Given the description of an element on the screen output the (x, y) to click on. 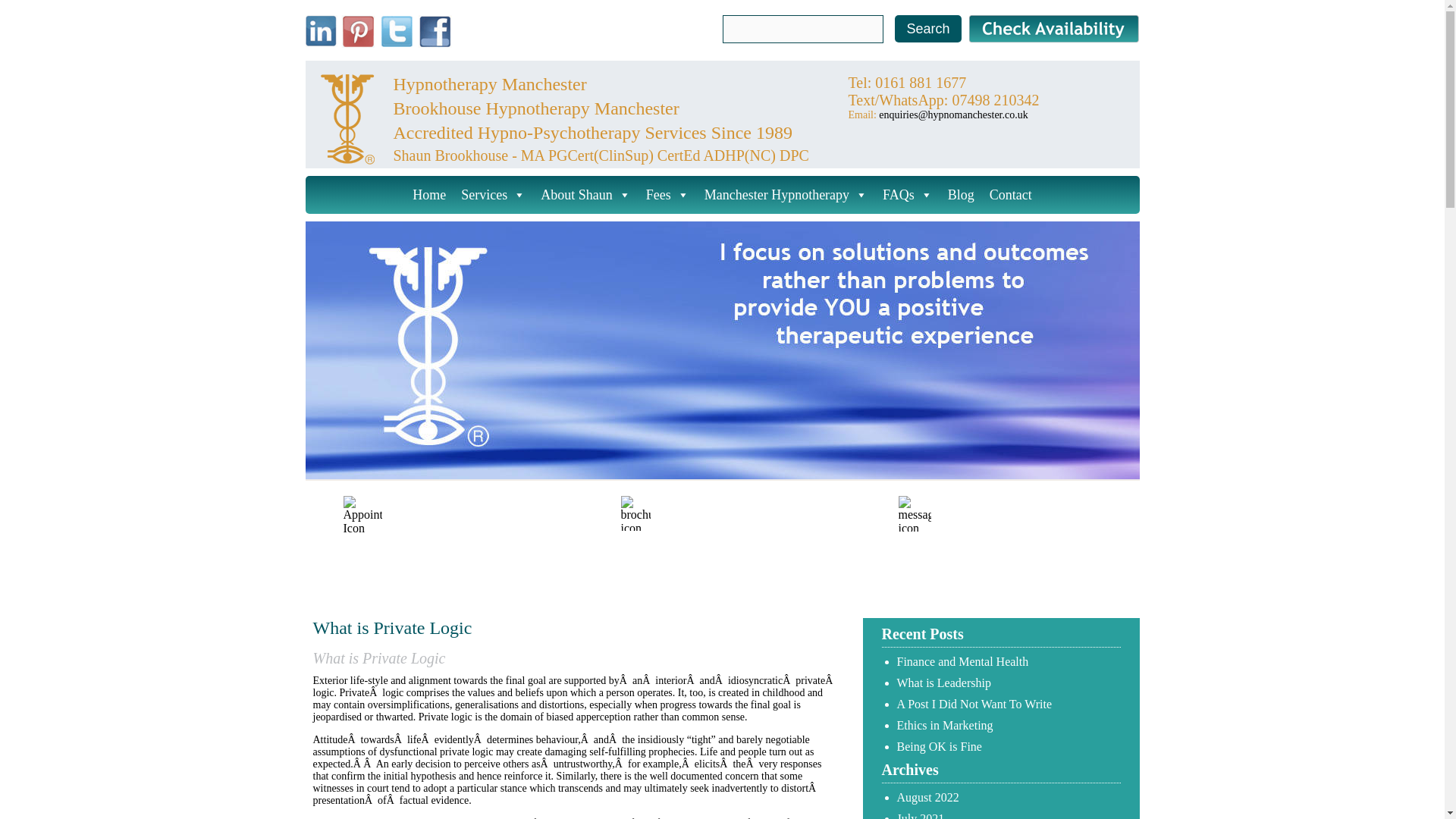
Services (492, 194)
Home (428, 194)
Manchester Hypnotherapy (786, 194)
Fees (668, 194)
Search (927, 28)
About Shaun (585, 194)
Search (927, 28)
